Given the description of an element on the screen output the (x, y) to click on. 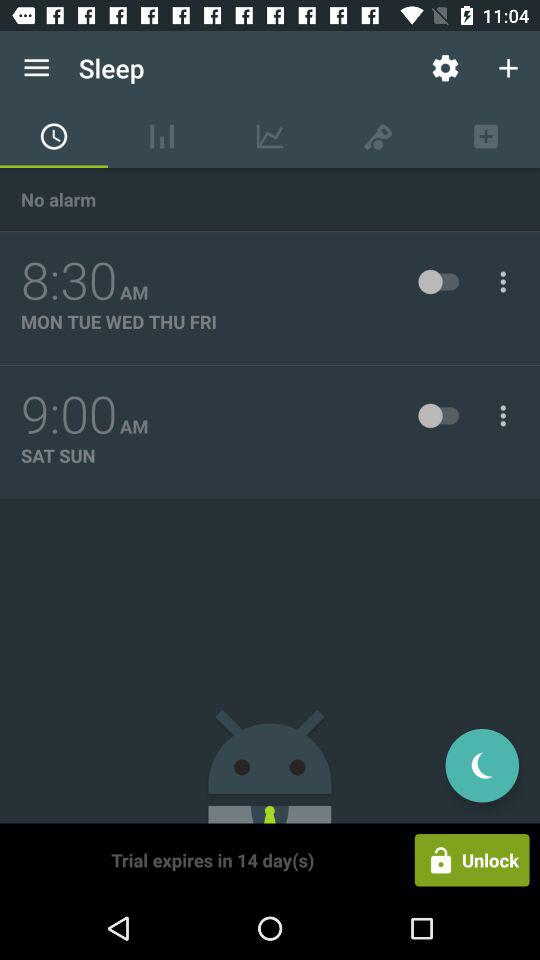
click icon below mon tue wed icon (69, 415)
